Given the description of an element on the screen output the (x, y) to click on. 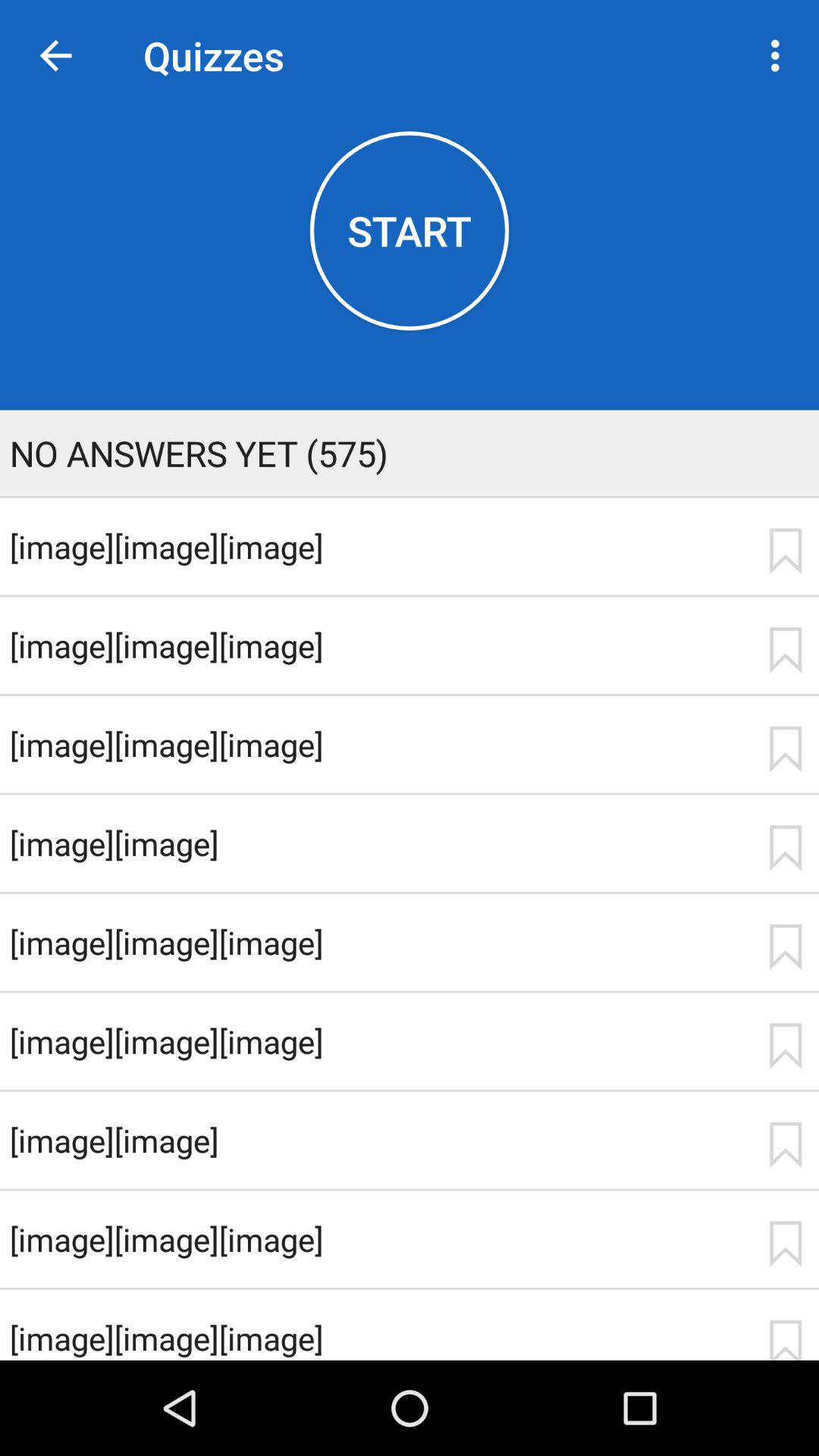
bookmark item (784, 848)
